Given the description of an element on the screen output the (x, y) to click on. 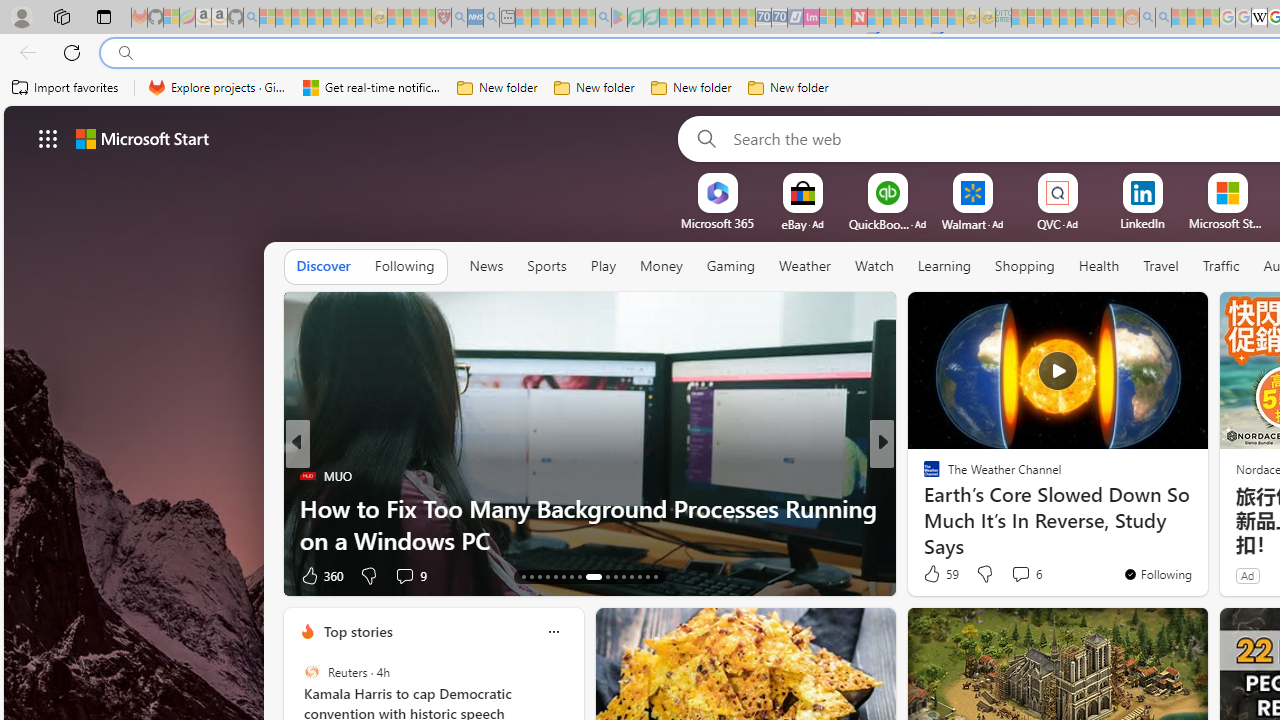
Shopping (1025, 267)
Pets - MSN - Sleeping (571, 17)
View comments 11 Comment (1019, 575)
AutomationID: tab-21 (593, 576)
63 Like (934, 574)
MSNBC - MSN - Sleeping (1019, 17)
Reuters (311, 672)
View comments 4 Comment (1019, 574)
AutomationID: tab-17 (555, 576)
